Given the description of an element on the screen output the (x, y) to click on. 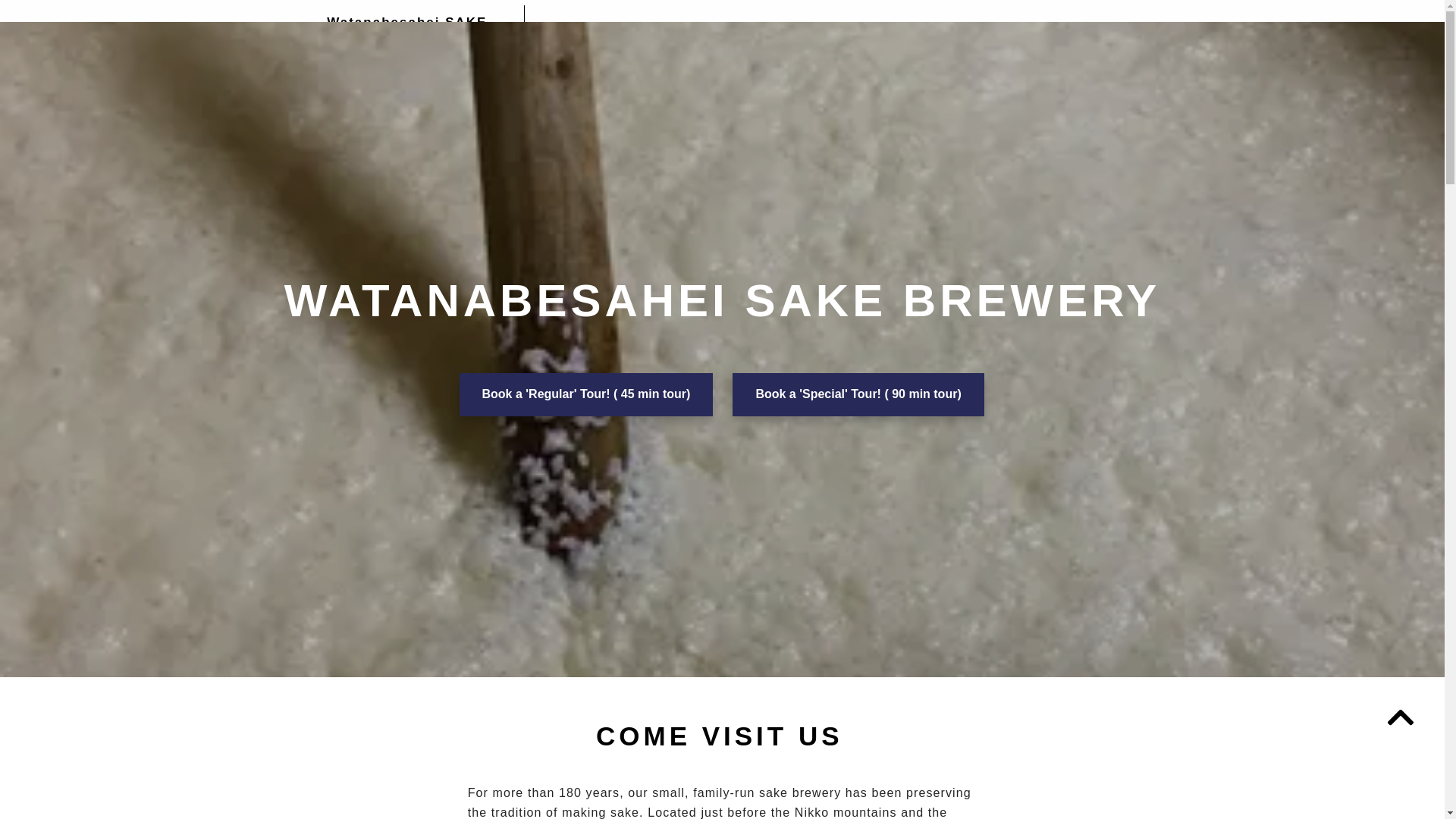
Watanabesahei SAKE BREWERY (406, 32)
BREWERY LAYOUT (727, 28)
SHOP (817, 28)
CONTACT US (1050, 28)
ABOUT US (622, 28)
NEARBY ATTRACTIONS (921, 28)
